Given the description of an element on the screen output the (x, y) to click on. 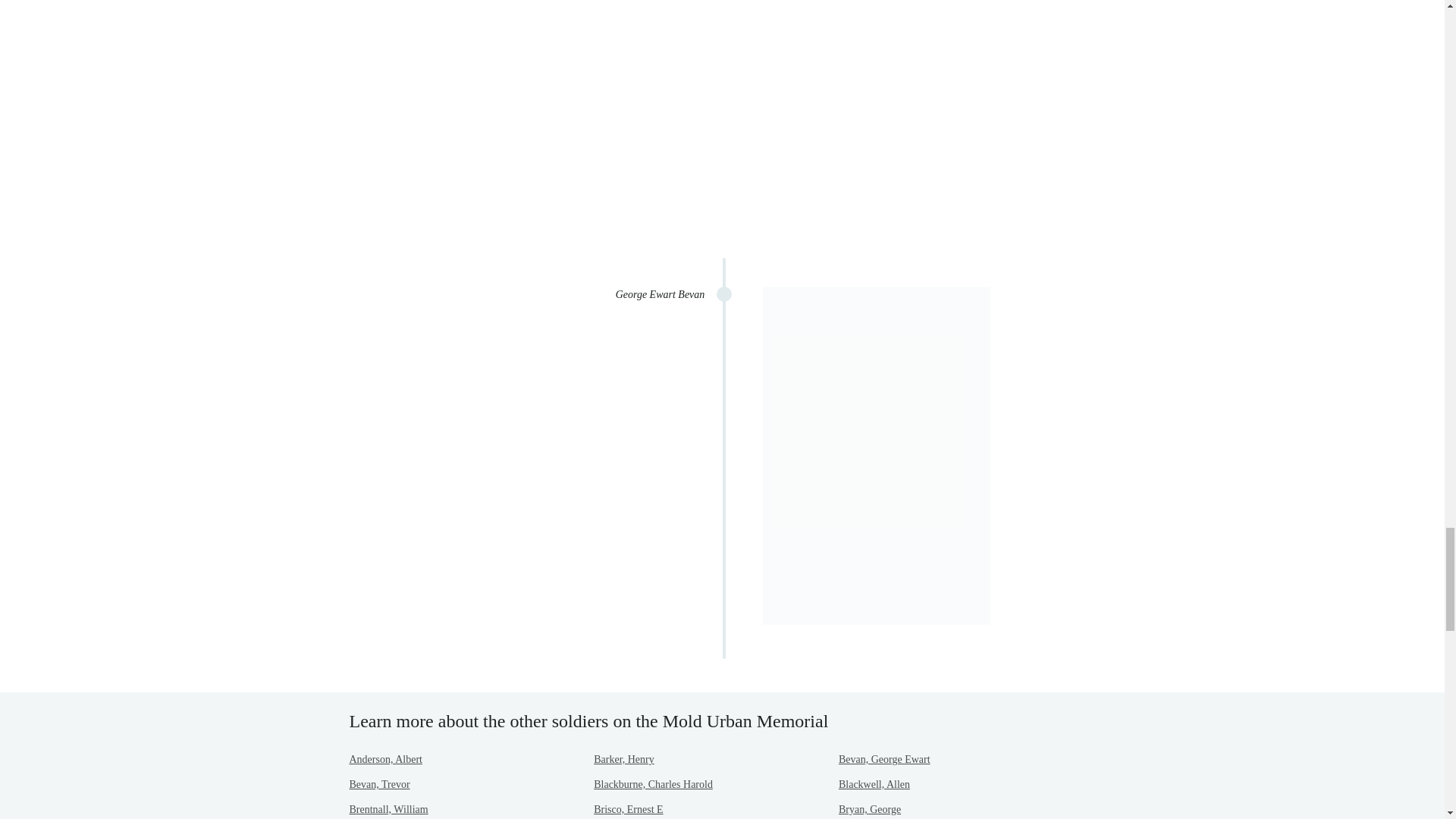
Brentnall, William (388, 808)
Brisco, Ernest E (628, 808)
Blackburne, Charles Harold (653, 784)
Bevan, Trevor (379, 784)
Bryan, George (869, 808)
Blackwell, Allen (874, 784)
Barker, Henry (623, 758)
Bevan, George Ewart (884, 758)
Anderson, Albert (385, 758)
